Given the description of an element on the screen output the (x, y) to click on. 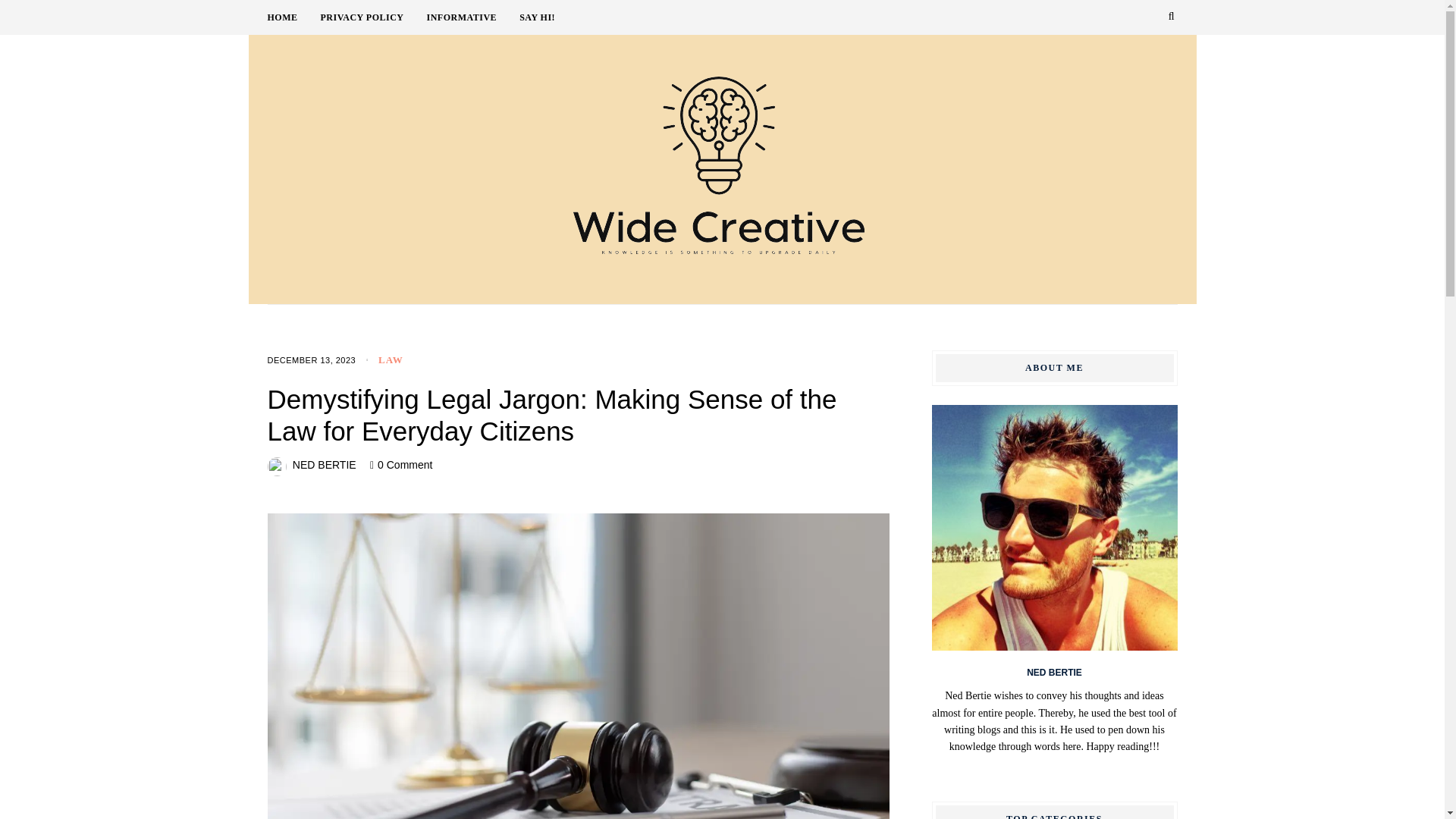
Posts by NED BERTIE (324, 464)
NED BERTIE (324, 464)
SAY HI! (536, 17)
DECEMBER 13, 2023 (310, 359)
0 Comment (404, 464)
INFORMATIVE (472, 17)
LAW (390, 359)
HOME (293, 17)
PRIVACY POLICY (373, 17)
